Given the description of an element on the screen output the (x, y) to click on. 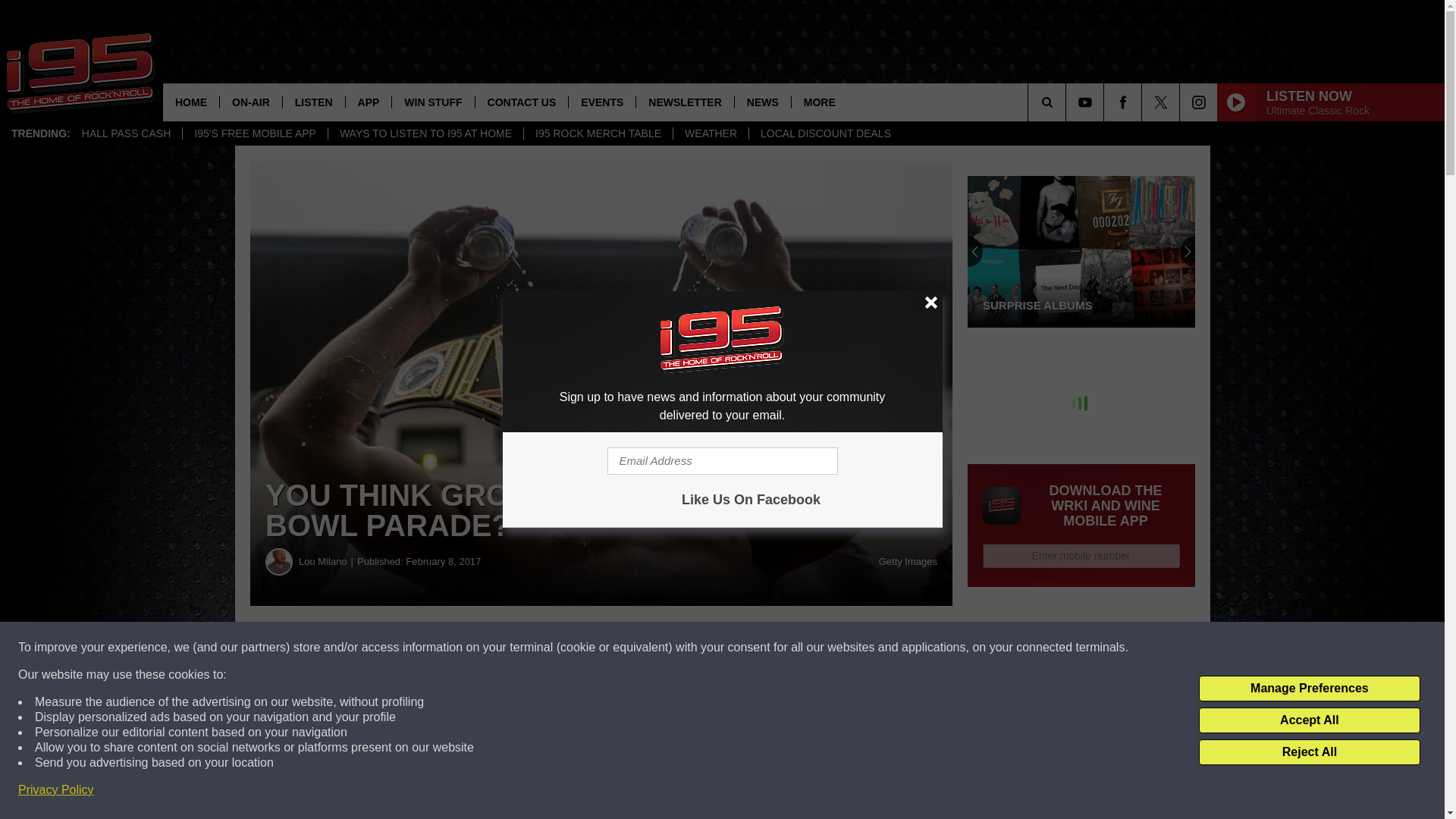
ON-AIR (250, 102)
Manage Preferences (1309, 688)
WAYS TO LISTEN TO I95 AT HOME (424, 133)
I95 ROCK MERCH TABLE (597, 133)
WIN STUFF (432, 102)
I95'S FREE MOBILE APP (254, 133)
SEARCH (1068, 102)
Email Address (722, 461)
Accept All (1309, 720)
Share on Twitter (741, 647)
HALL PASS CASH (126, 133)
HOME (191, 102)
APP (368, 102)
LOCAL DISCOUNT DEALS (825, 133)
Privacy Policy (55, 789)
